Given the description of an element on the screen output the (x, y) to click on. 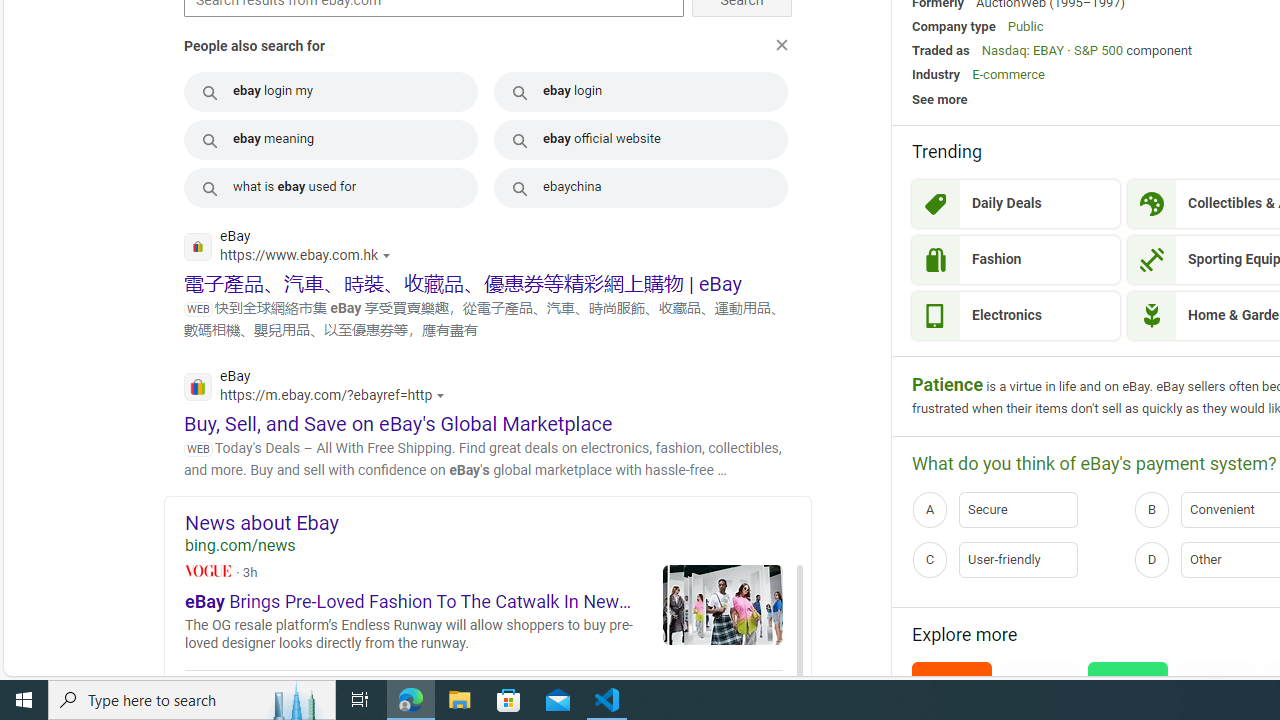
Actions for this site (443, 395)
S&P 500 (1097, 50)
C User-friendly (1016, 559)
eBay (319, 388)
Daily Deals (1015, 204)
ebay login my (330, 91)
ebaychina (641, 187)
A Secure (1016, 510)
Industry (936, 74)
bing.com/news (498, 545)
